Given the description of an element on the screen output the (x, y) to click on. 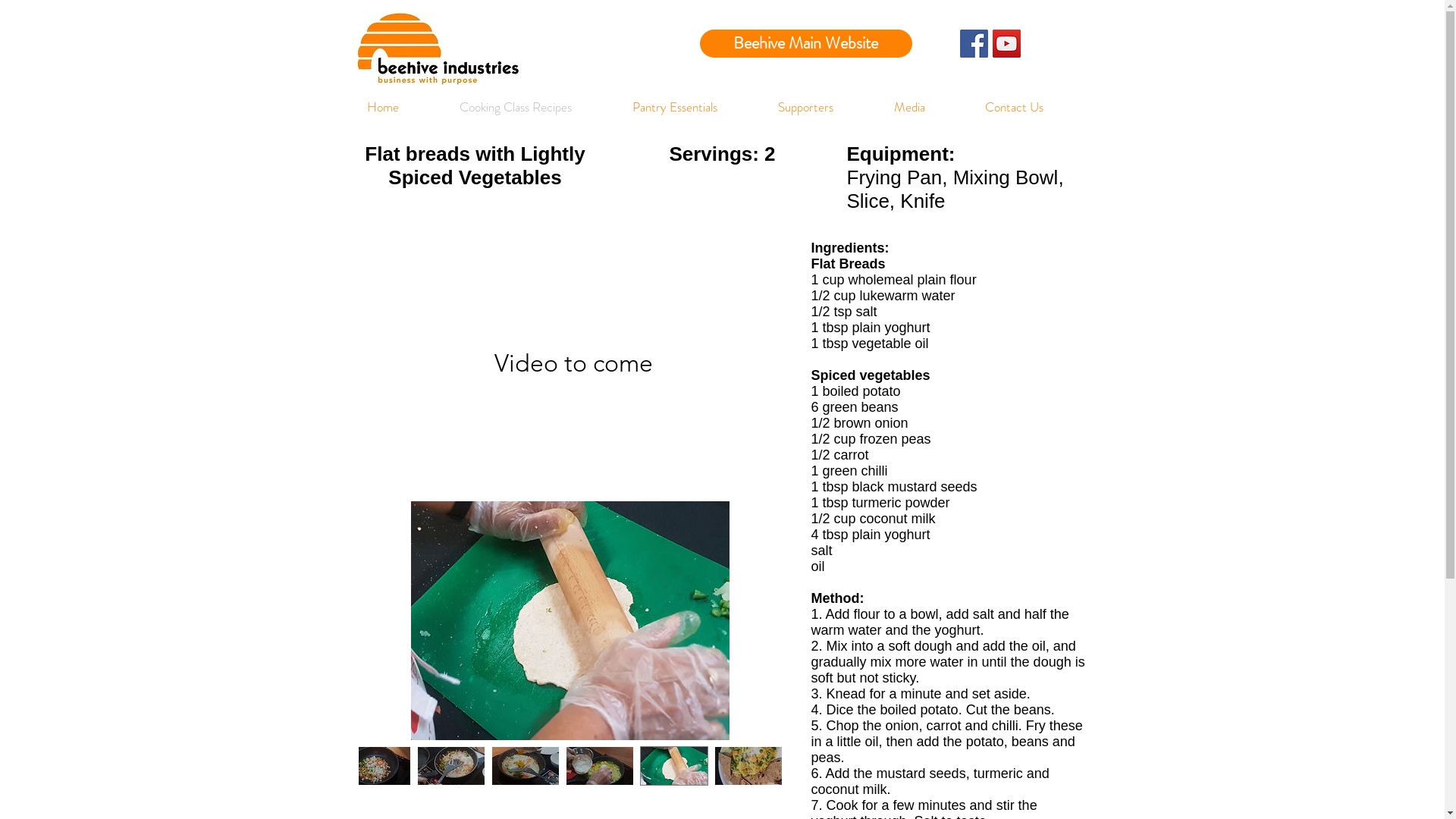
Pantry Essentials Element type: text (692, 107)
Contact Us Element type: text (1031, 107)
Supporters Element type: text (823, 107)
Home Element type: text (400, 107)
Embedded Content Element type: hover (619, 50)
Beehive Main Website Element type: text (805, 43)
Media Element type: text (926, 107)
Beehive new logo.jpg Element type: hover (437, 49)
Cooking Class Recipes Element type: text (533, 107)
